Given the description of an element on the screen output the (x, y) to click on. 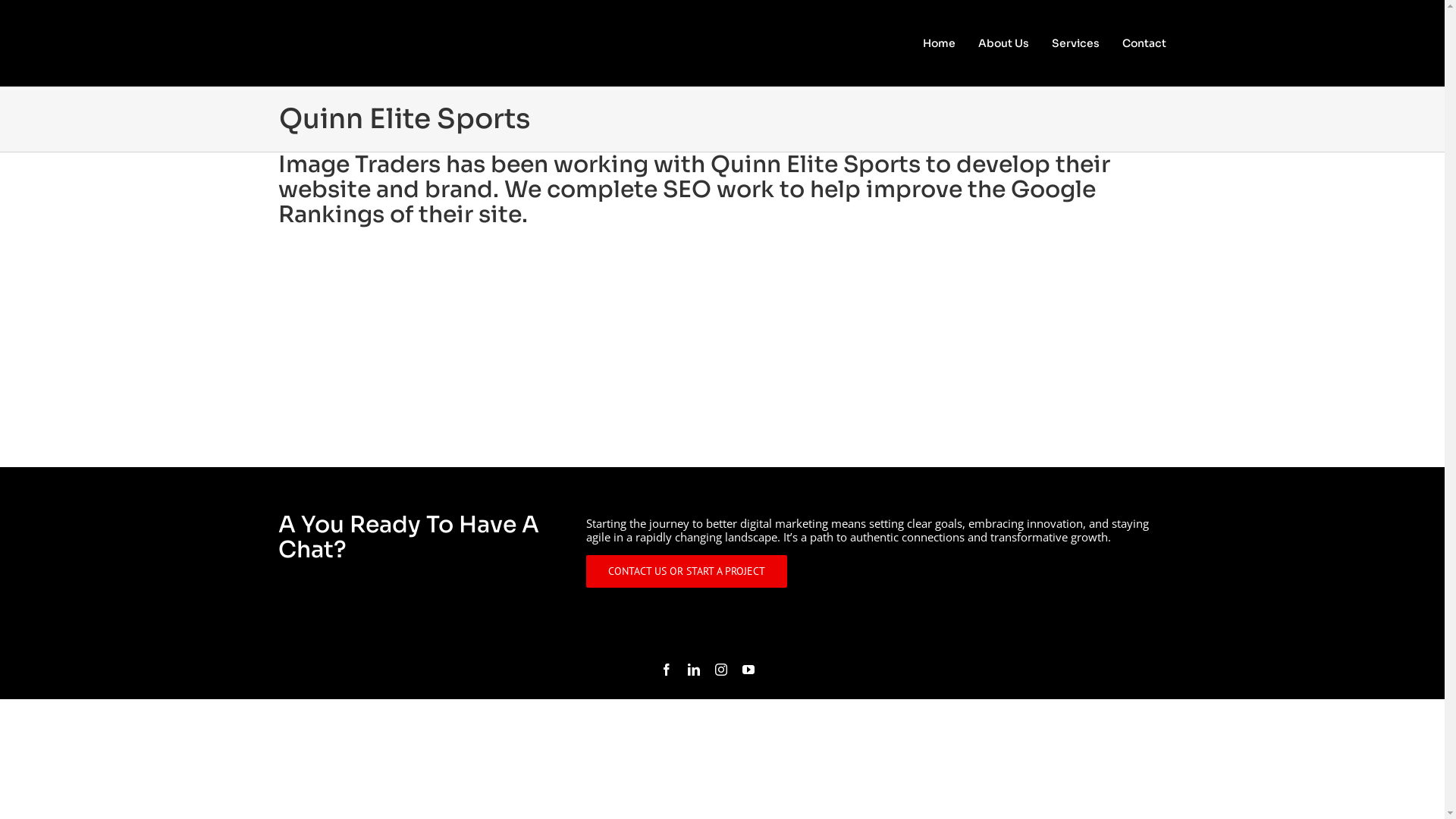
Contact Element type: text (1144, 43)
About Us Element type: text (1003, 43)
Services Element type: text (1075, 43)
Quinn-elite-Sports-Logo Element type: hover (432, 344)
CONTACT US OR START A PROJECT Element type: text (686, 571)
Home Element type: text (938, 43)
YouTube Element type: hover (748, 669)
Facebook Element type: hover (666, 669)
X (Twitter) Element type: hover (776, 669)
Instagram Element type: hover (721, 669)
LinkedIn Element type: hover (693, 669)
